Given the description of an element on the screen output the (x, y) to click on. 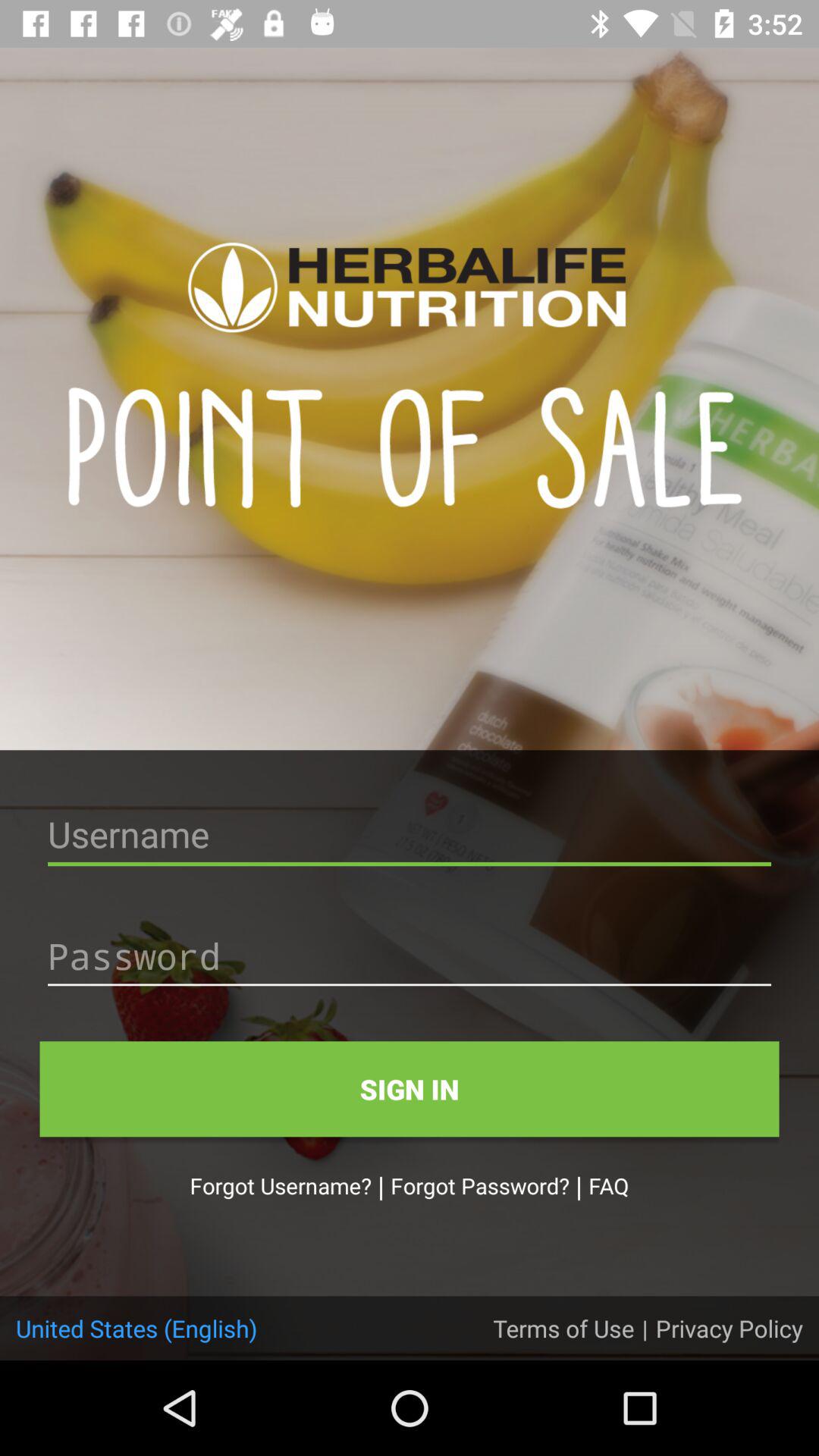
launch icon below the sign in item (608, 1185)
